Given the description of an element on the screen output the (x, y) to click on. 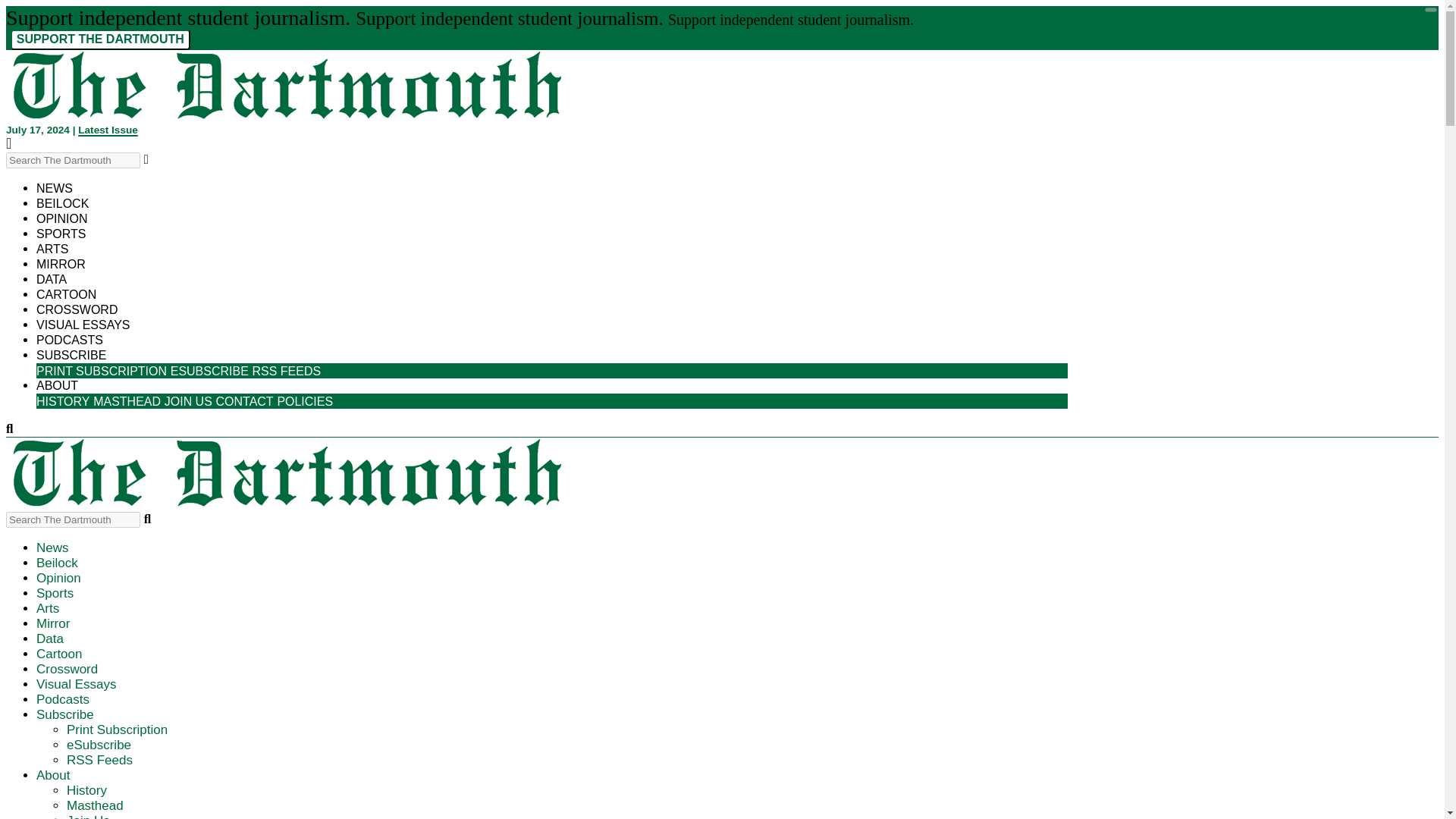
SUPPORT THE DARTMOUTH (100, 39)
Arts (52, 248)
POLICIES (304, 397)
Cartoon (58, 653)
Opinion (61, 218)
Opinion (58, 577)
Mirror (52, 623)
News (54, 187)
Cartoon (66, 294)
PODCASTS (69, 339)
SUBSCRIBE (71, 354)
VISUAL ESSAYS (83, 324)
ARTS (52, 248)
Opinion (58, 577)
Sports (55, 593)
